Given the description of an element on the screen output the (x, y) to click on. 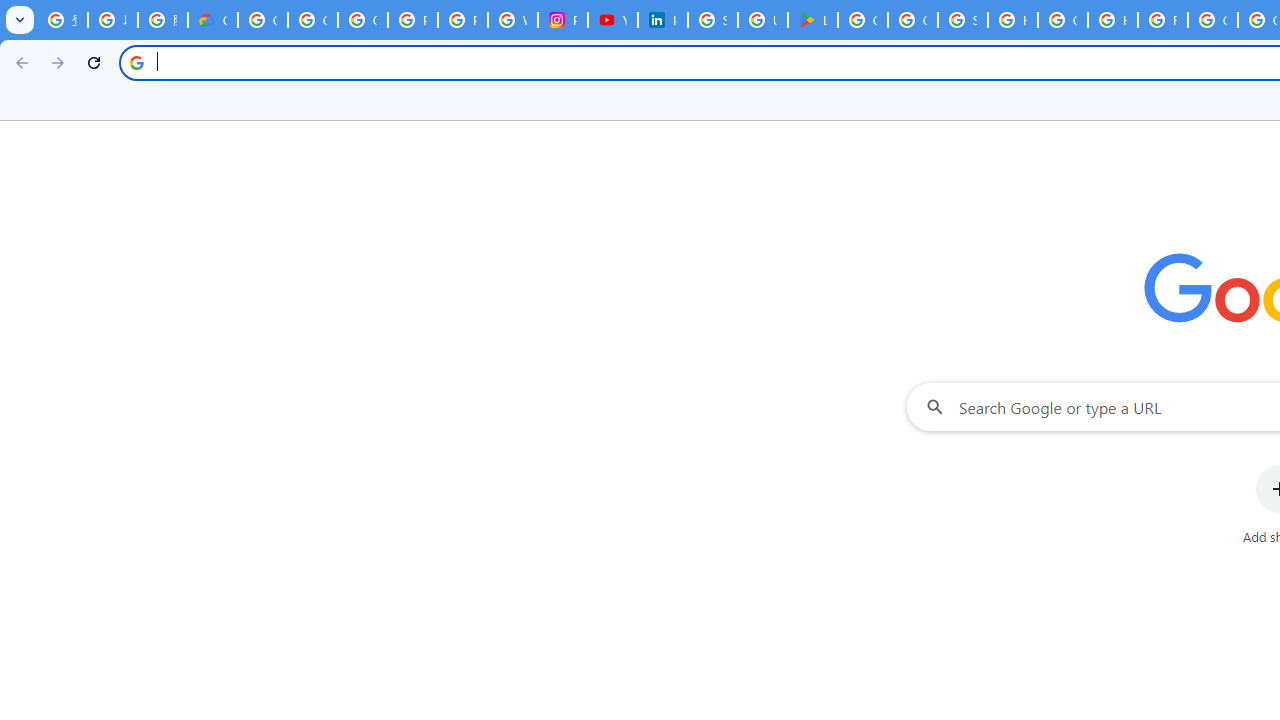
YouTube Culture & Trends - On The Rise: Handcam Videos (612, 20)
Privacy Help Center - Policies Help (462, 20)
